Given the description of an element on the screen output the (x, y) to click on. 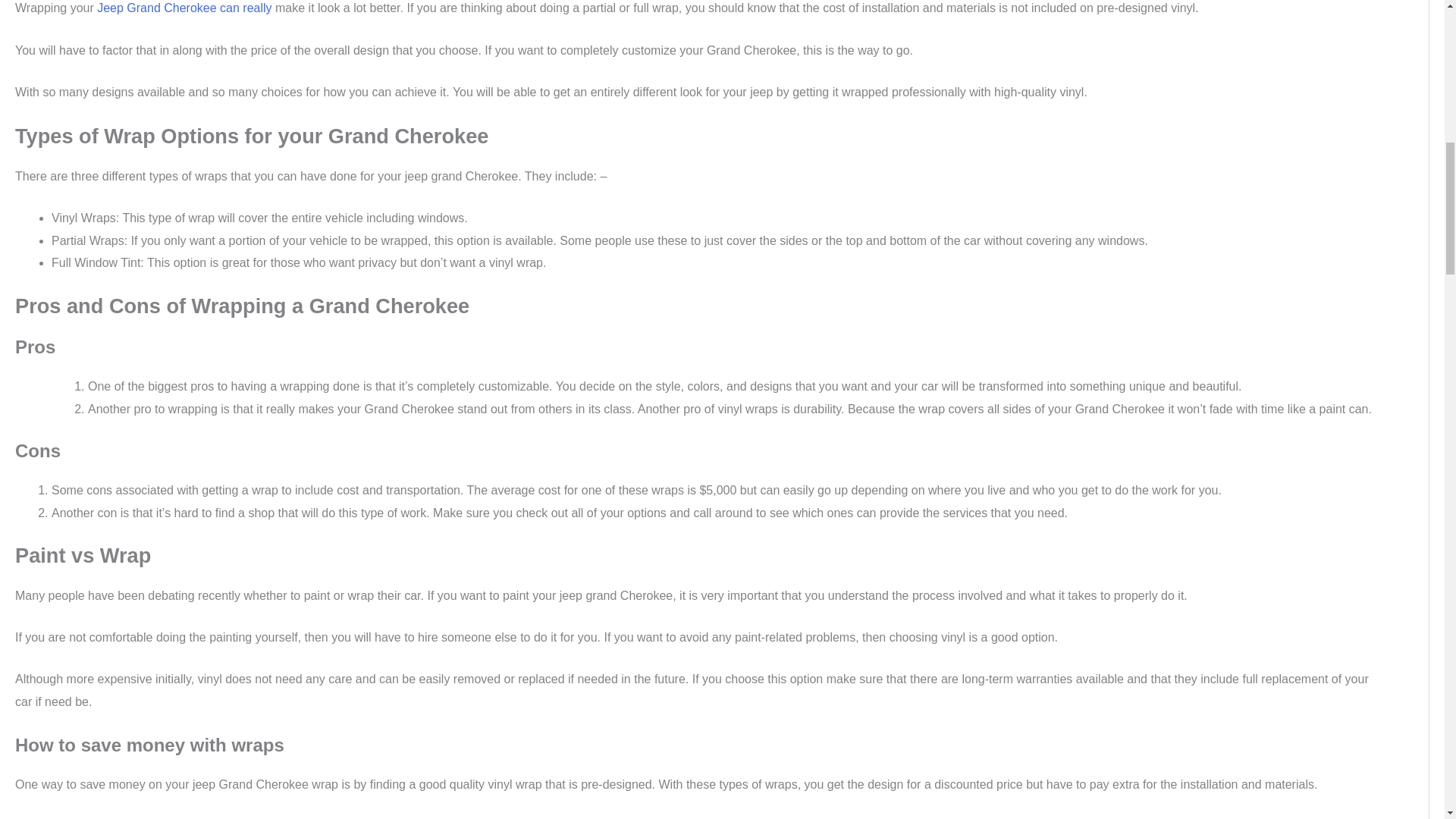
Jeep Grand Cherokee can really (183, 7)
